Given the description of an element on the screen output the (x, y) to click on. 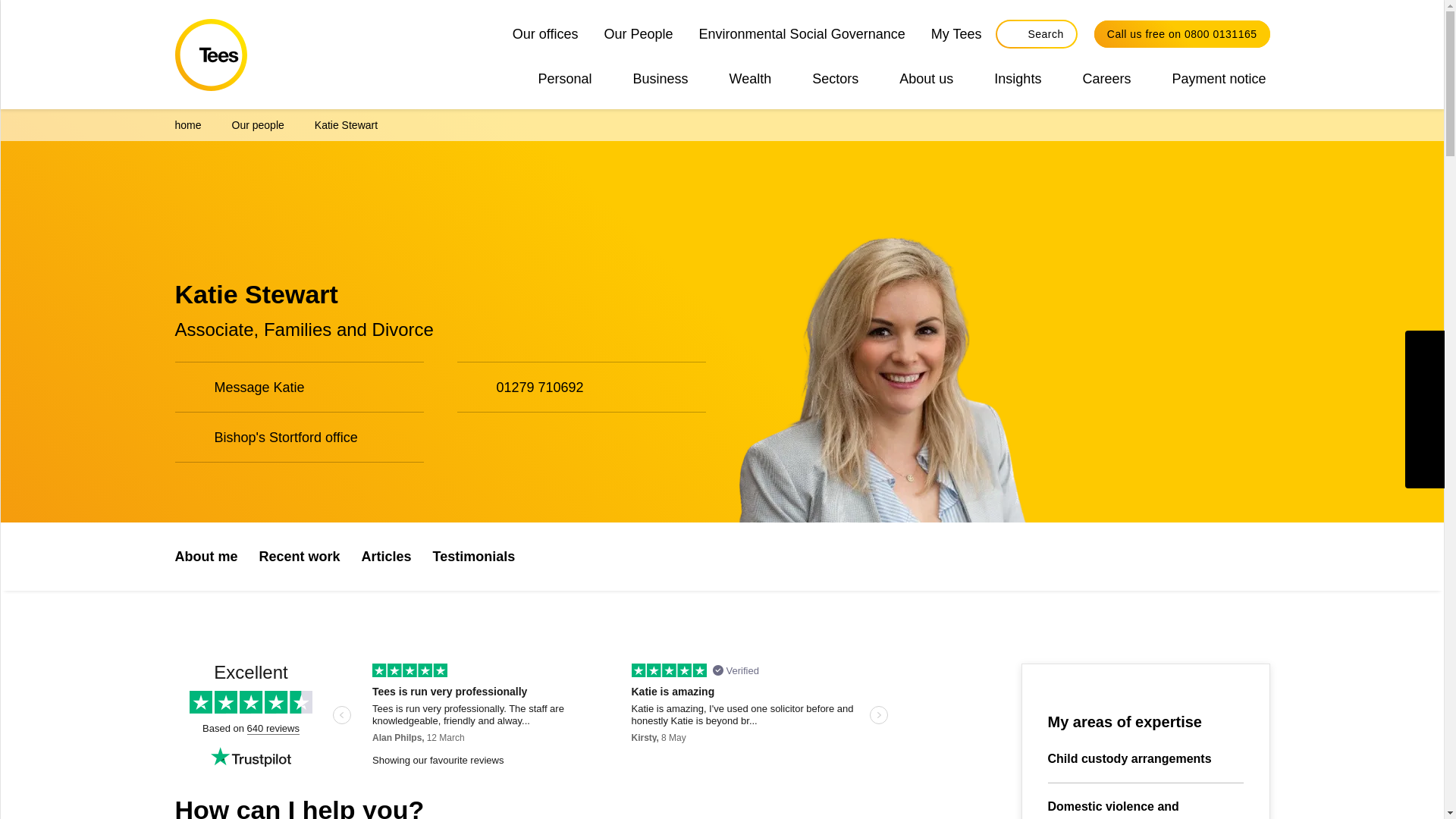
Customer reviews powered by Trustpilot (533, 716)
Call us free on 0800 0131165 (1181, 33)
Business (660, 78)
Our offices (545, 33)
Personal (564, 78)
Environmental Social Governance (801, 33)
My Tees (956, 33)
Wealth (750, 78)
Our People (638, 33)
